Given the description of an element on the screen output the (x, y) to click on. 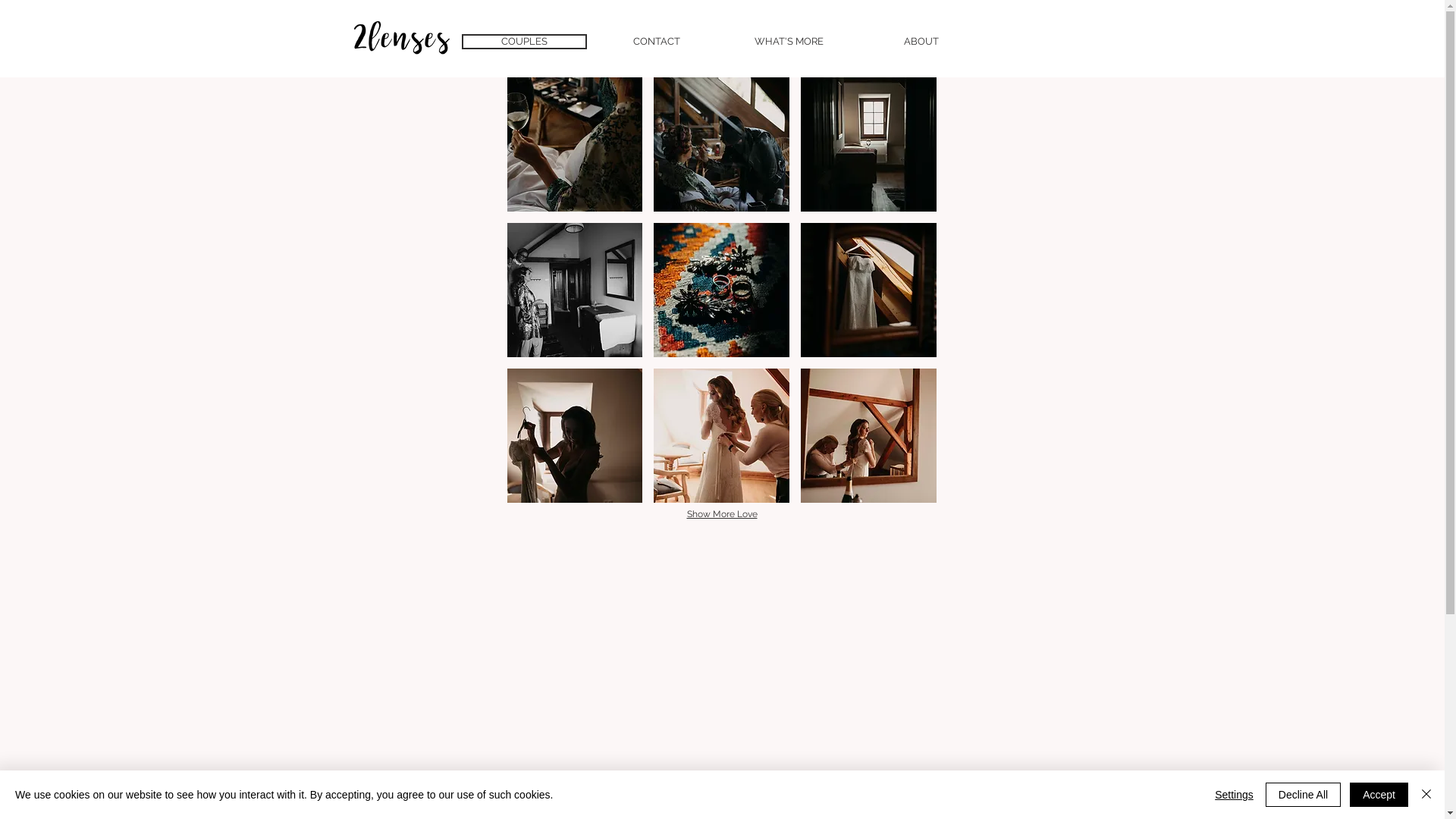
CONTACT Element type: text (656, 41)
Accept Element type: text (1378, 794)
Show More Love Element type: text (722, 514)
COUPLES Element type: text (523, 41)
ABOUT Element type: text (920, 41)
WHAT'S MORE Element type: text (788, 41)
Decline All Element type: text (1302, 794)
